Given the description of an element on the screen output the (x, y) to click on. 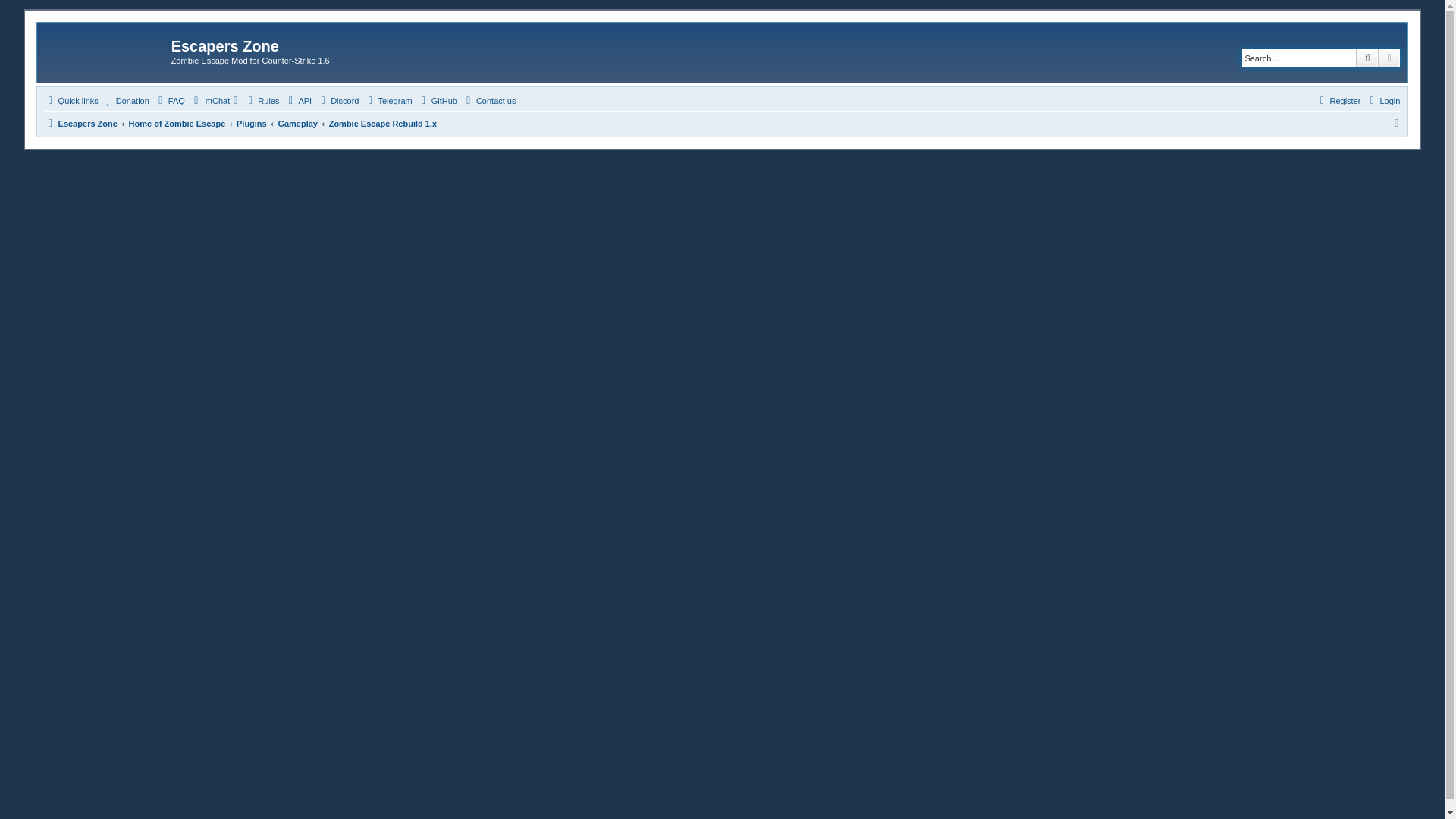
Advanced search (1388, 58)
Contact us (489, 100)
View the Rules of this Board (261, 100)
Gameplay (297, 123)
Telegram (388, 100)
mChat (215, 100)
Rules (261, 100)
Advanced search (1388, 58)
Login (1382, 100)
Search for keywords (1298, 58)
